Given the description of an element on the screen output the (x, y) to click on. 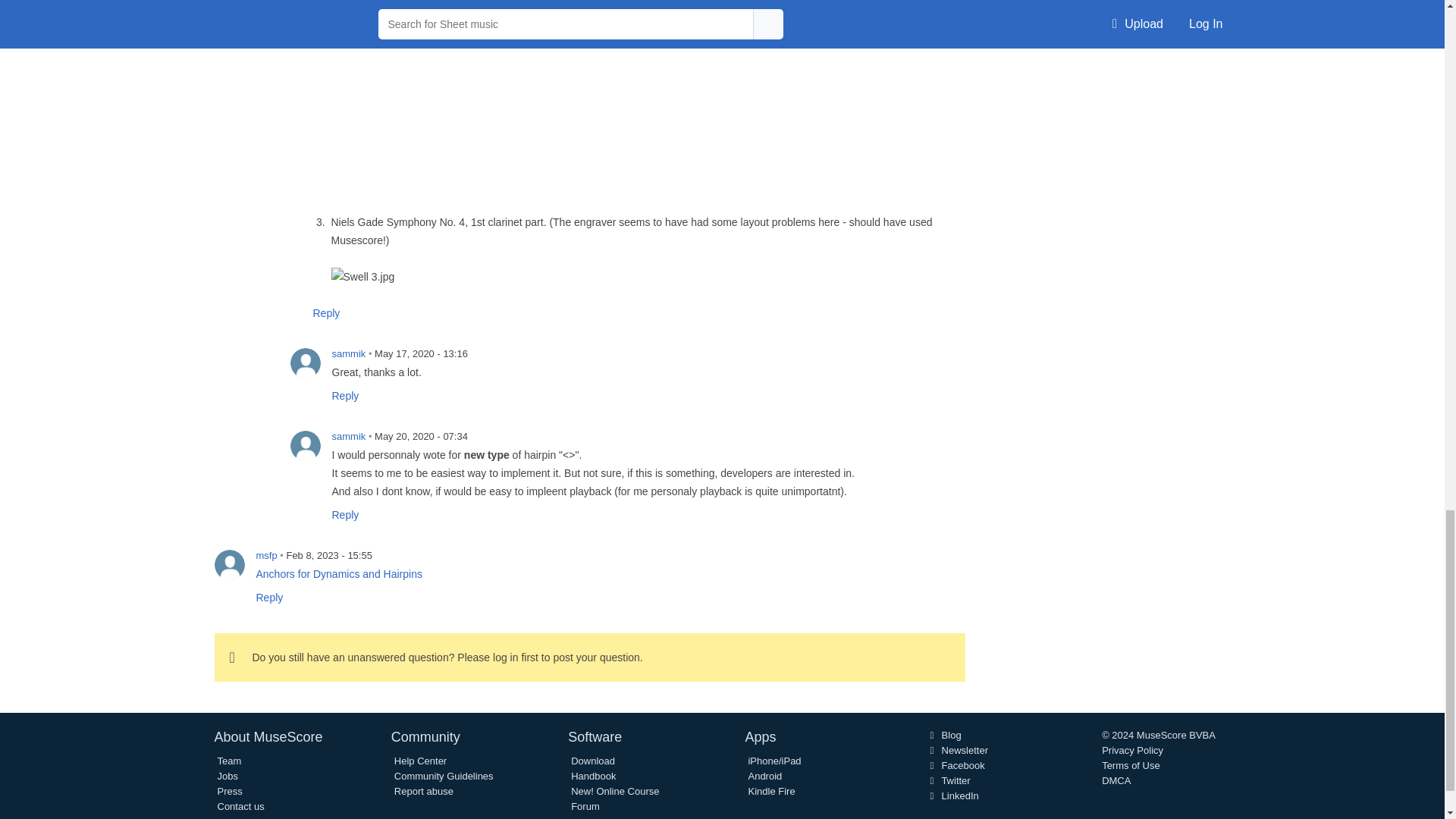
Swell 2.jpg (646, 99)
Swell 3.jpg (362, 276)
sammik (304, 363)
